Given the description of an element on the screen output the (x, y) to click on. 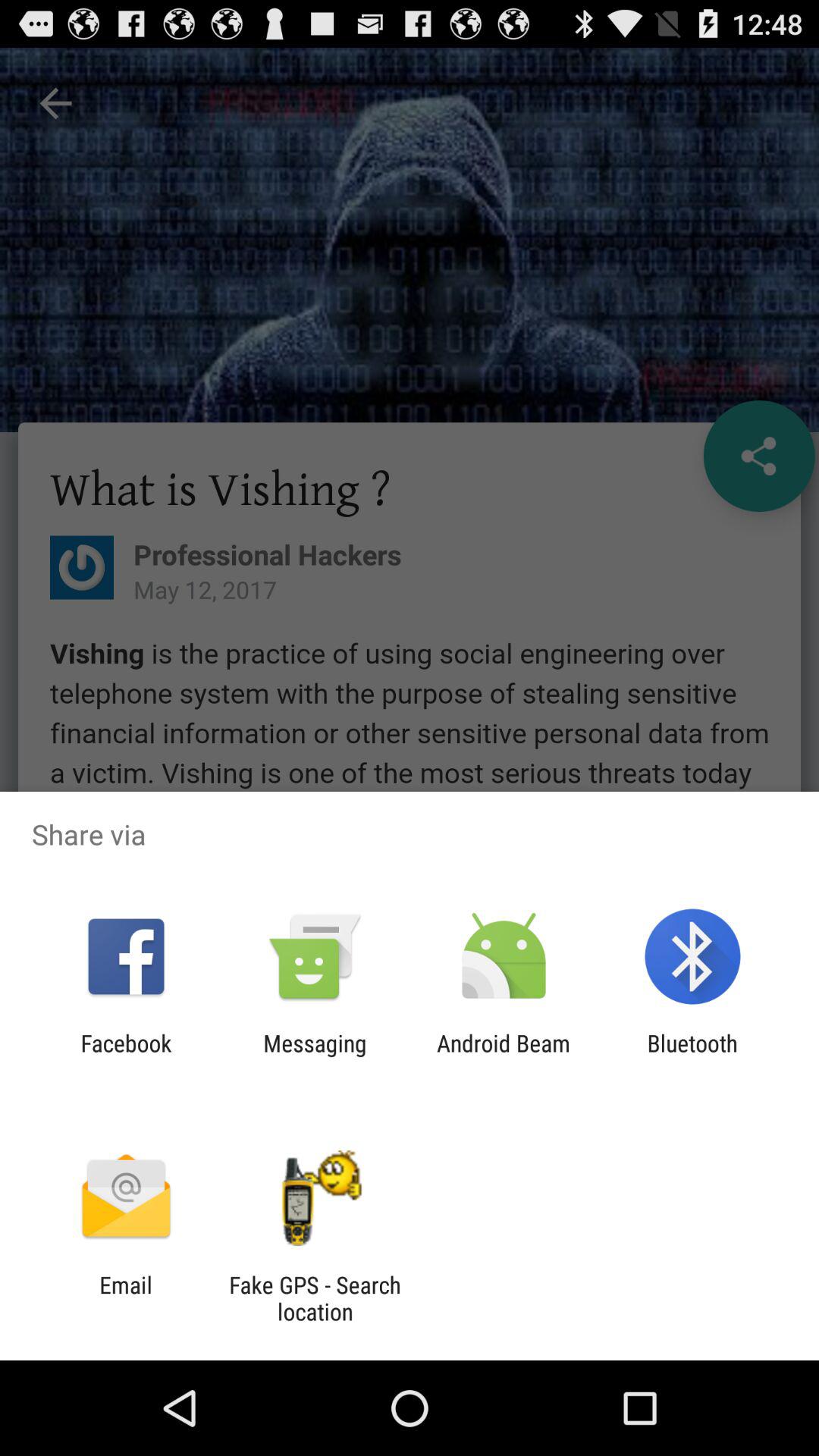
turn on facebook app (125, 1056)
